Given the description of an element on the screen output the (x, y) to click on. 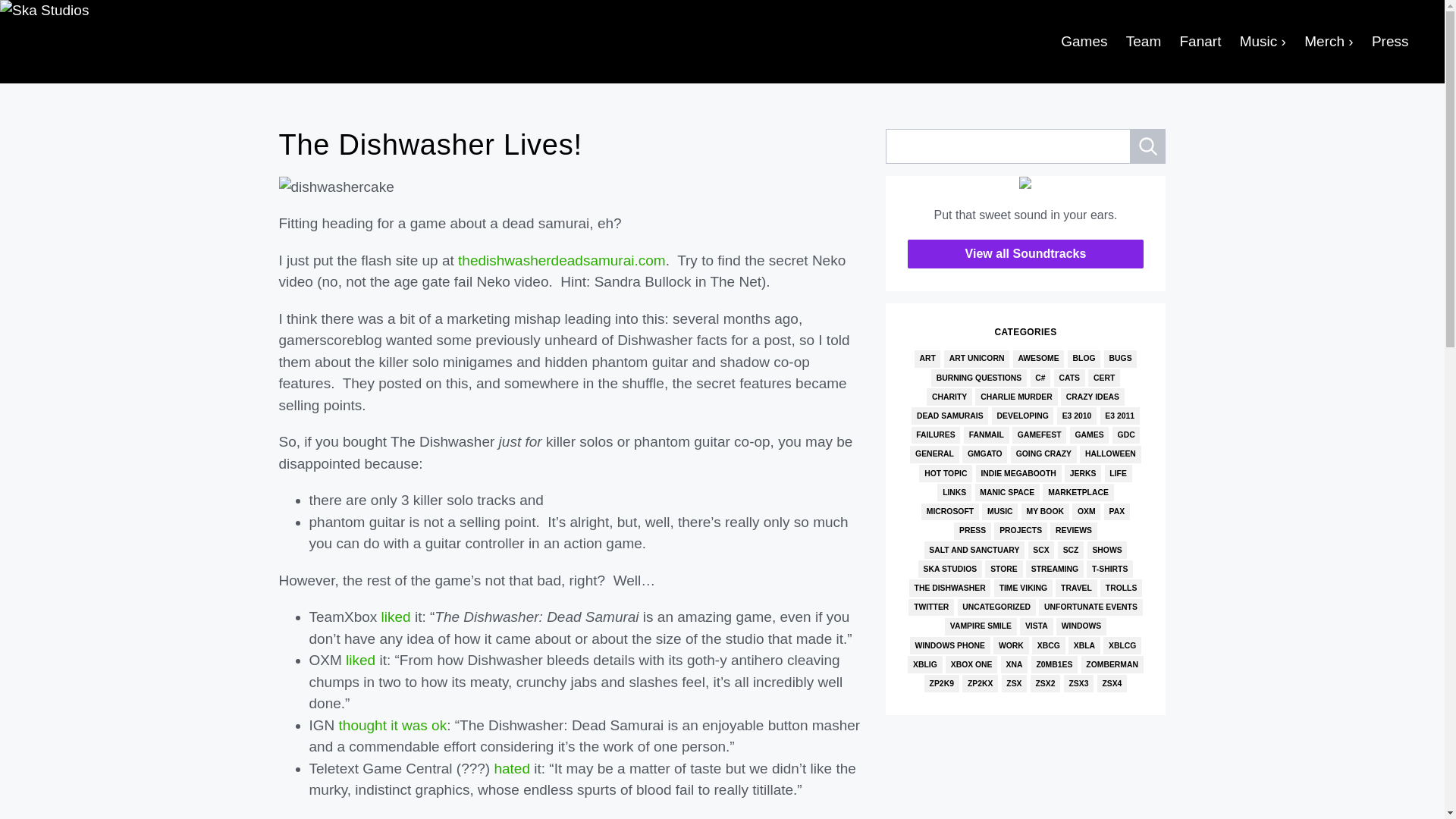
DEVELOPING (1022, 416)
liked (395, 616)
CRAZY IDEAS (1092, 396)
ART UNICORN (976, 358)
GAMEFEST (1038, 435)
AWESOME (1038, 358)
DEAD SAMURAIS (949, 416)
CATS (1069, 377)
Games (1084, 41)
Press (1389, 41)
BLOG (1083, 358)
FAILURES (935, 435)
Team (1142, 41)
thought it was ok (392, 725)
BURNING QUESTIONS (978, 377)
